Given the description of an element on the screen output the (x, y) to click on. 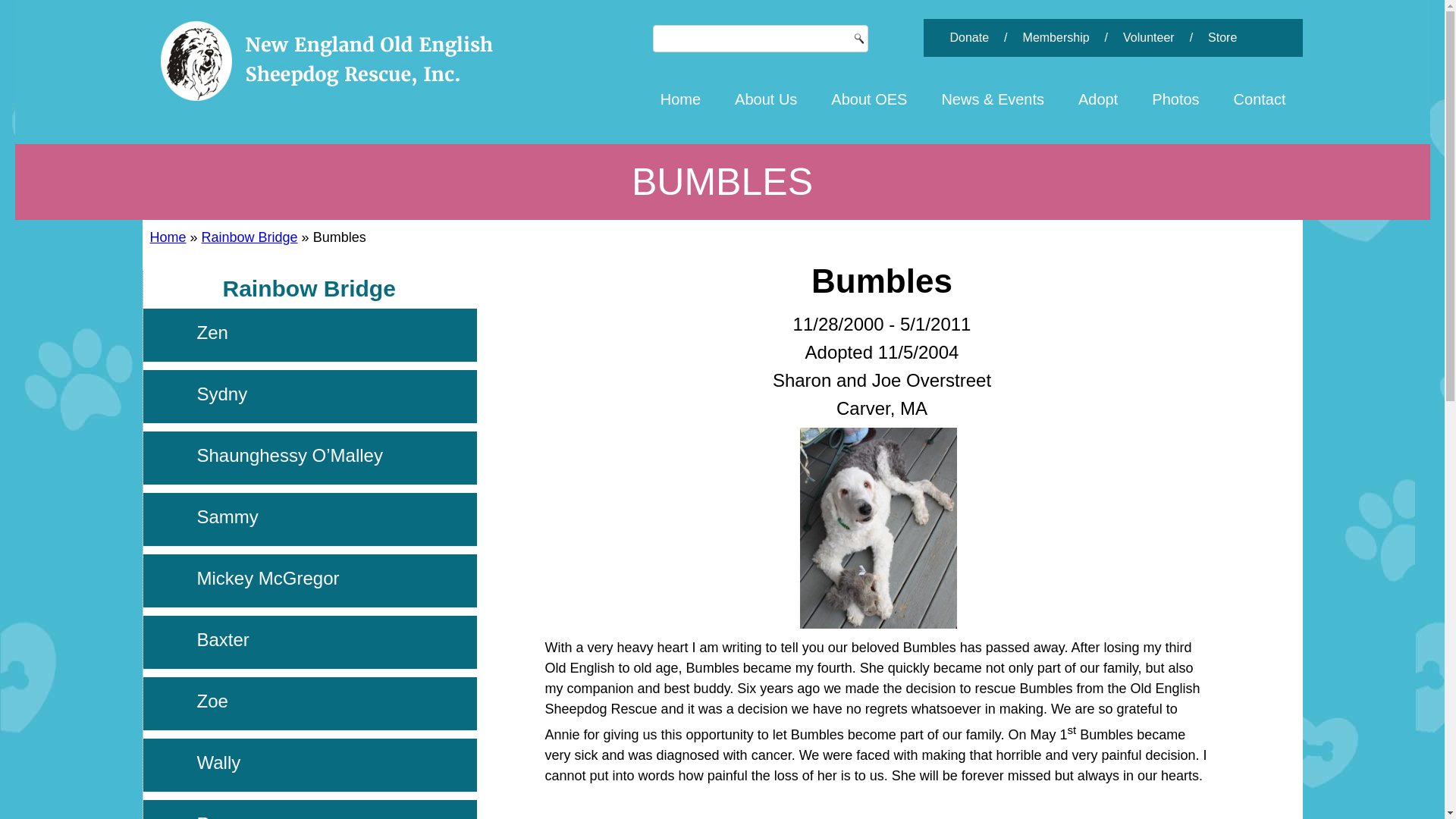
Rainbow Bridge (309, 288)
Volunteer (1148, 37)
Donate (968, 37)
Roscoe (227, 816)
About OES (869, 99)
Contact (1259, 99)
Photos (1174, 99)
Zen (212, 332)
Zoe (212, 701)
Membership (1055, 37)
Store (1221, 37)
Adopt (1098, 99)
Adopt (1098, 99)
Rainbow Bridge (309, 288)
Sammy (227, 516)
